Given the description of an element on the screen output the (x, y) to click on. 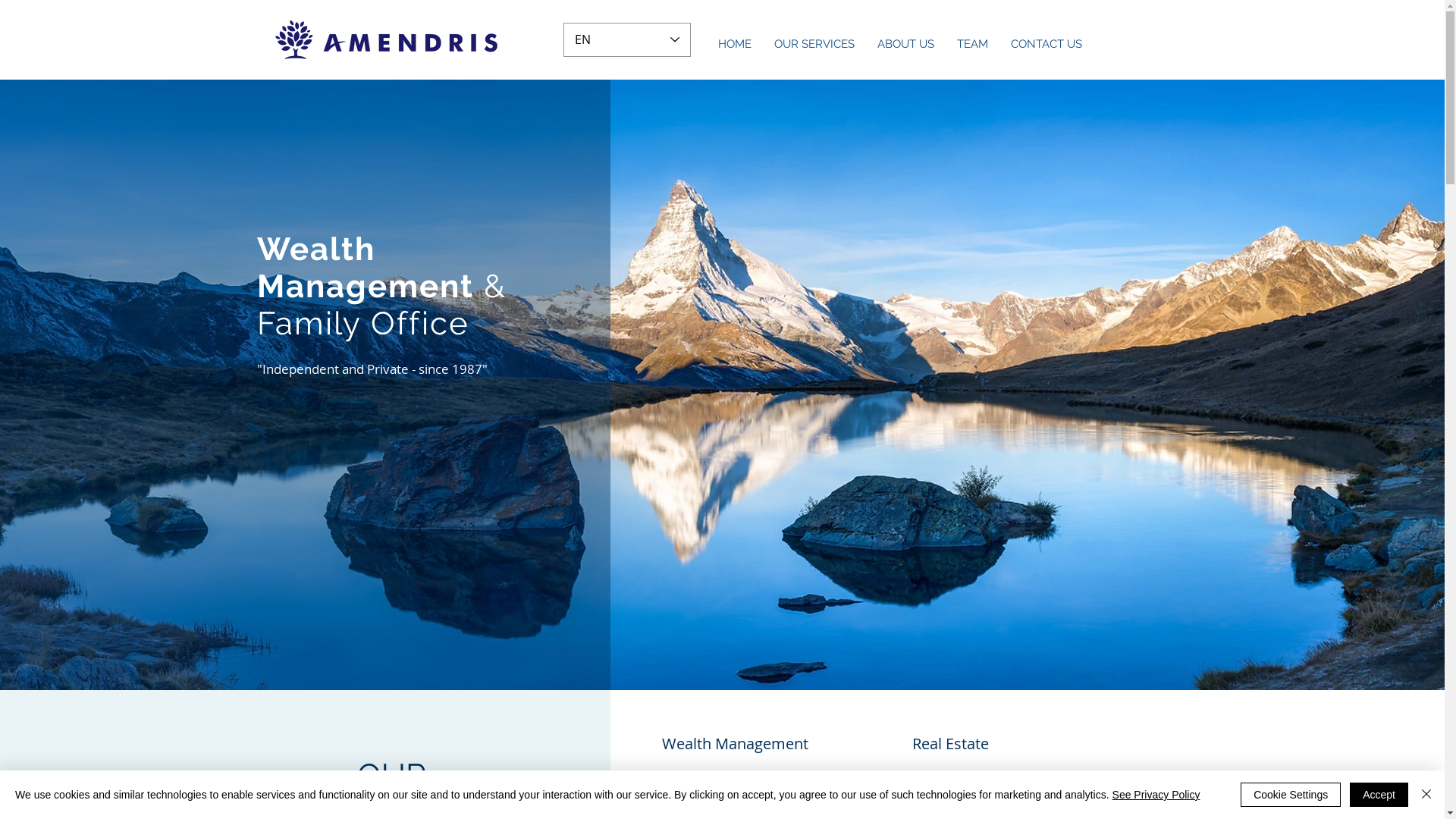
See Privacy Policy Element type: text (1156, 794)
HOME Element type: text (734, 43)
TEAM Element type: text (971, 43)
Cookie Settings Element type: text (1290, 794)
ABOUT US Element type: text (905, 43)
CONTACT US Element type: text (1046, 43)
Accept Element type: text (1378, 794)
OUR SERVICES Element type: text (814, 43)
